Given the description of an element on the screen output the (x, y) to click on. 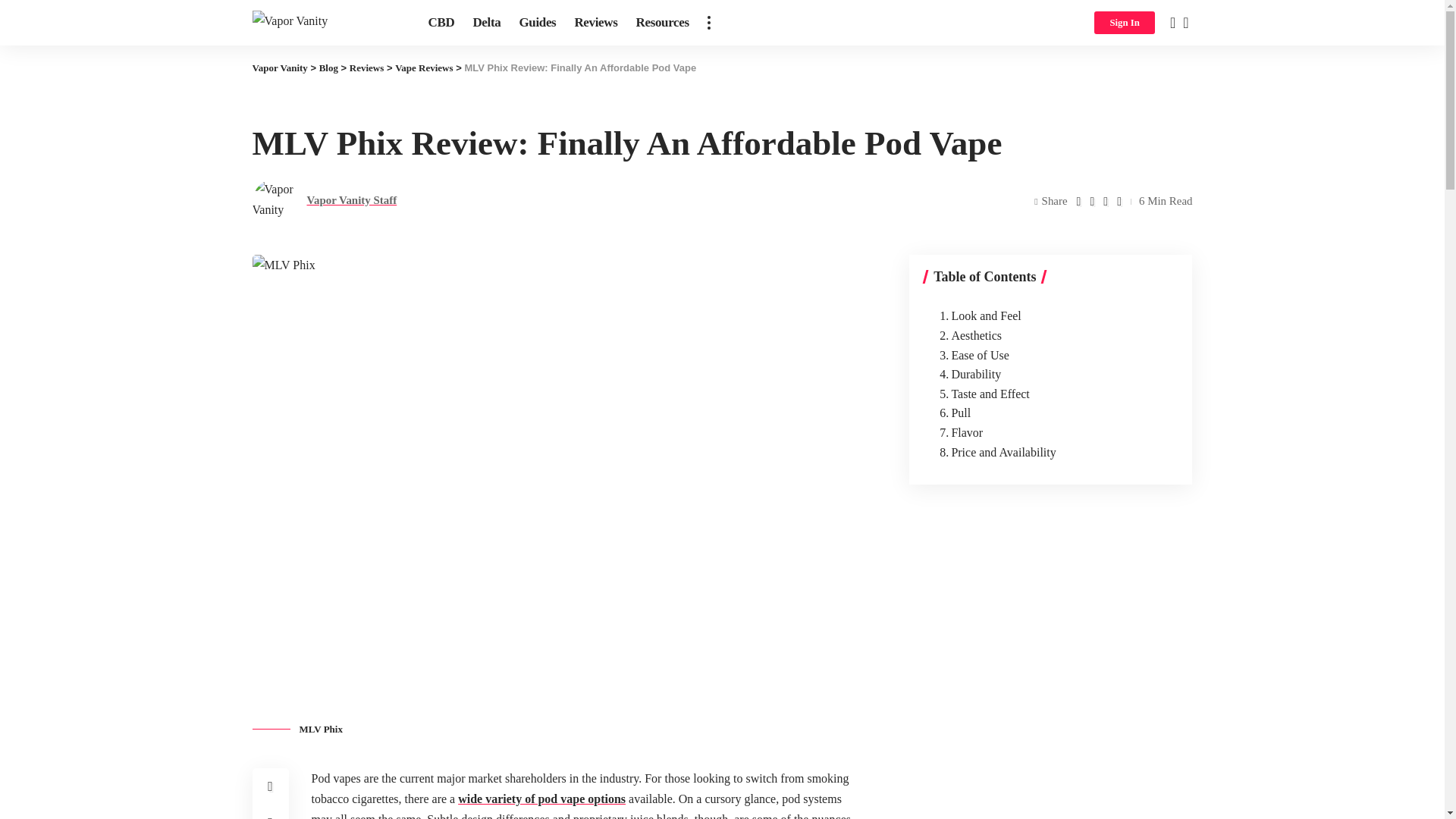
Delta (486, 22)
Ease of Use (970, 355)
Go to the Reviews Category archives. (366, 67)
Durability (966, 374)
Go to Vapor Vanity. (279, 67)
Look and Feel (976, 315)
Taste and Effect (980, 394)
Resources (661, 22)
CBD (441, 22)
Guides (536, 22)
